Given the description of an element on the screen output the (x, y) to click on. 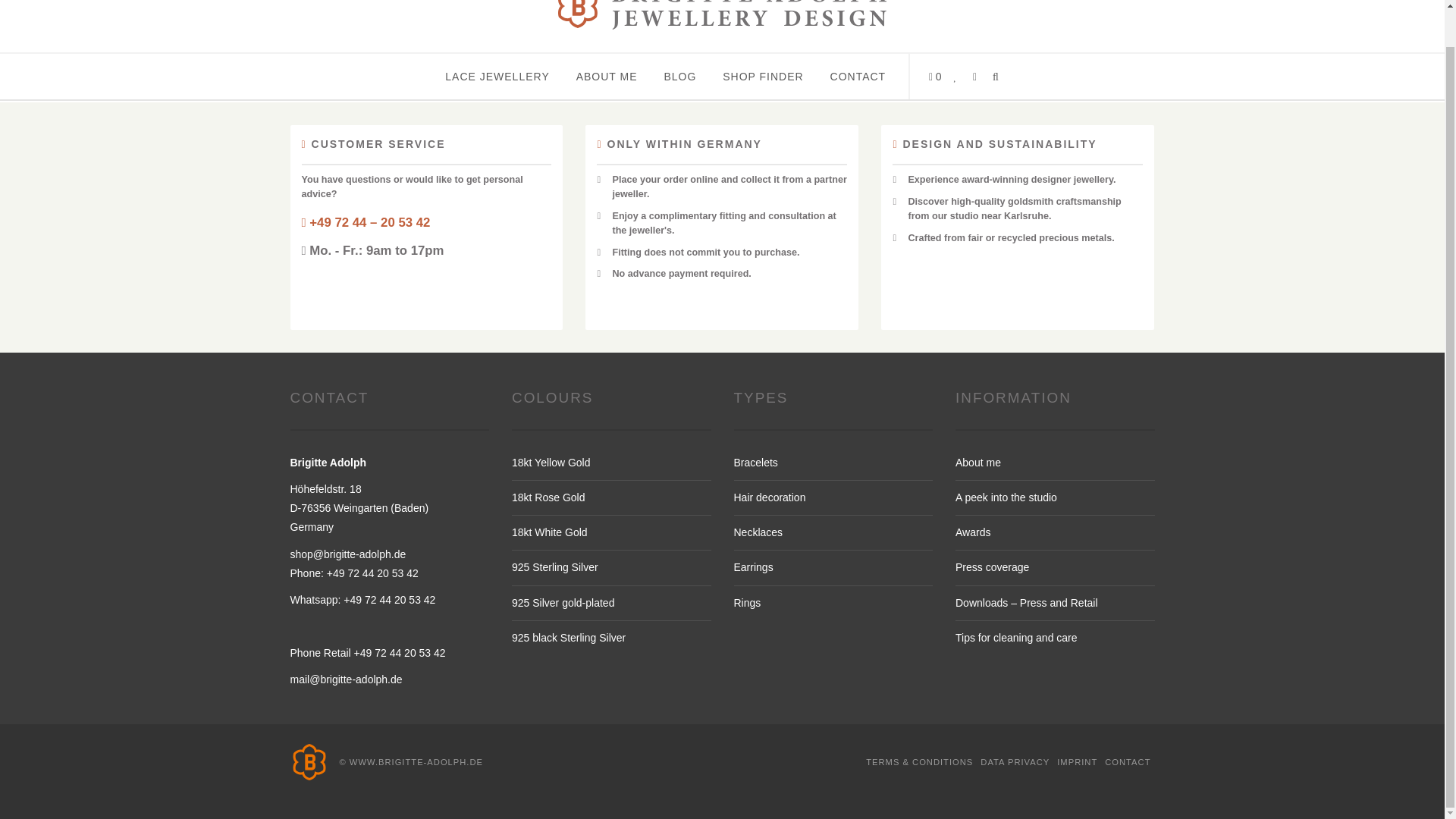
Open Cookie Preferences (32, 761)
